Given the description of an element on the screen output the (x, y) to click on. 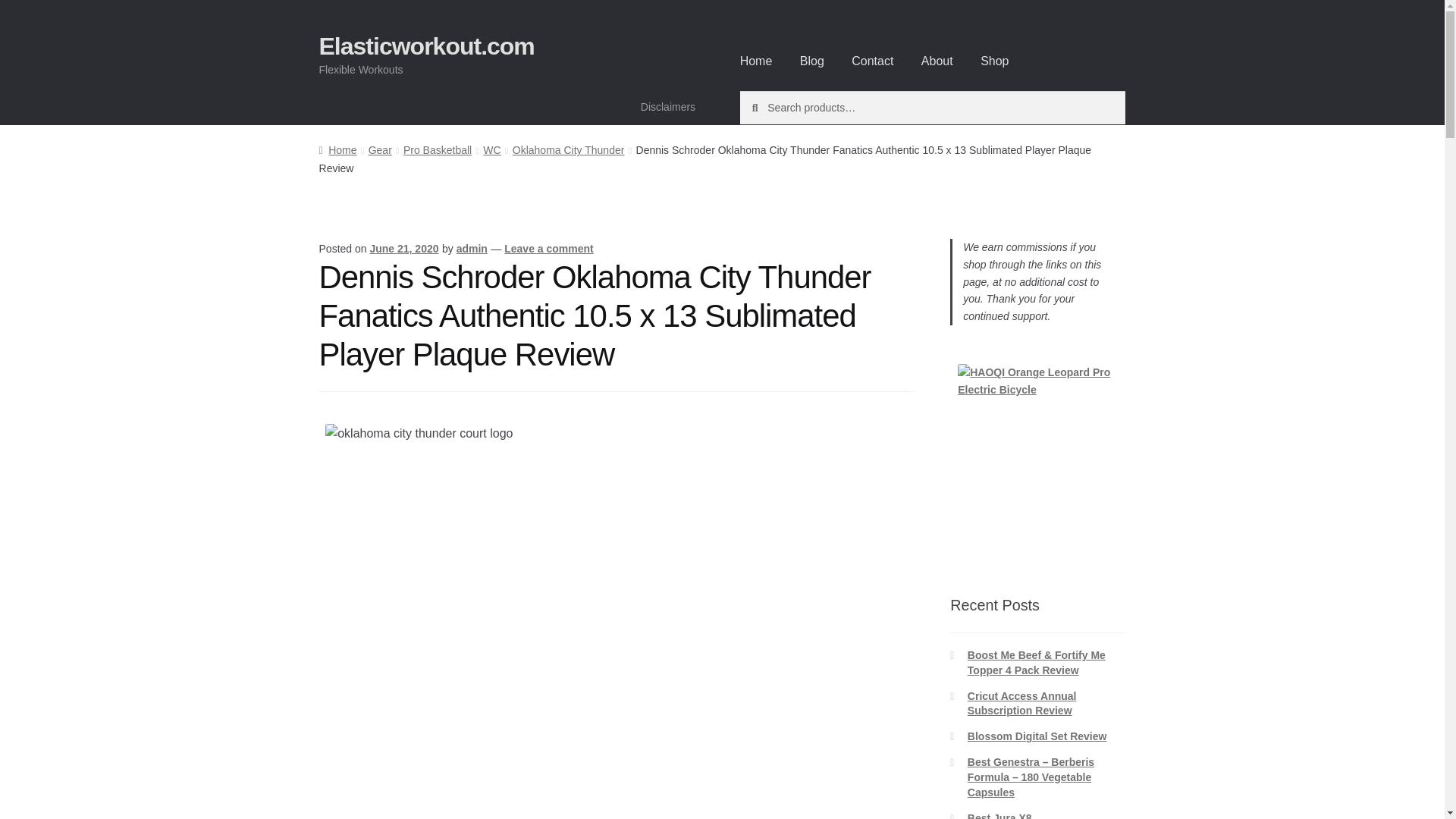
About (936, 60)
Oklahoma City Thunder (568, 150)
Disclaimers (667, 106)
Leave a comment (548, 248)
Home (756, 60)
Elasticworkout.com (426, 45)
June 21, 2020 (403, 248)
admin (472, 248)
Gear (379, 150)
